Given the description of an element on the screen output the (x, y) to click on. 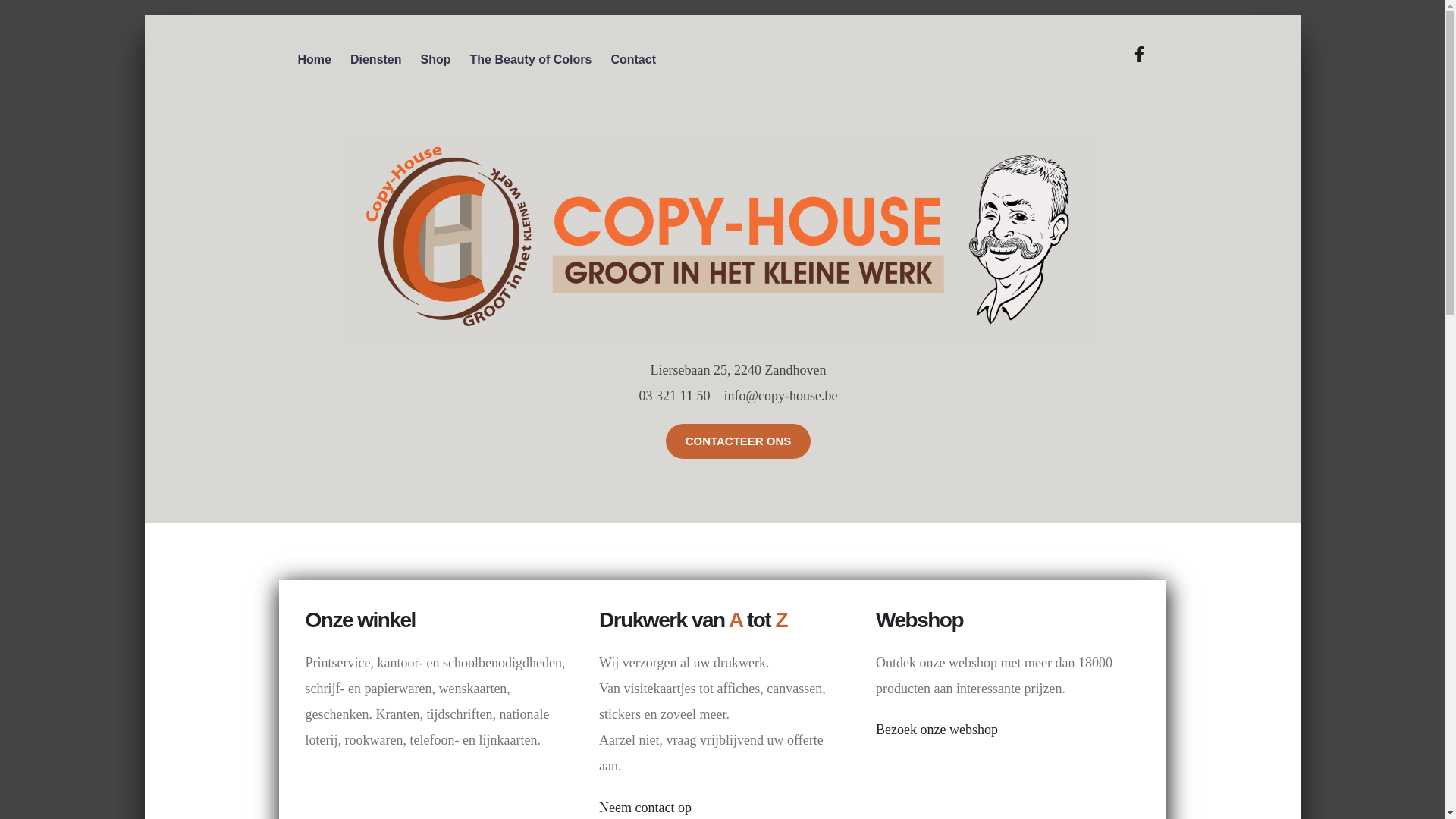
The Beauty of Colors Element type: text (531, 59)
Diensten Element type: text (375, 59)
Neem contact op Element type: text (645, 807)
Home Element type: text (313, 59)
CONTACTEER ONS Element type: text (738, 440)
Contact Element type: text (632, 59)
Shop Element type: text (435, 59)
info@copy-house.be Element type: text (780, 395)
Bezoek onze webshop Element type: text (936, 729)
